Given the description of an element on the screen output the (x, y) to click on. 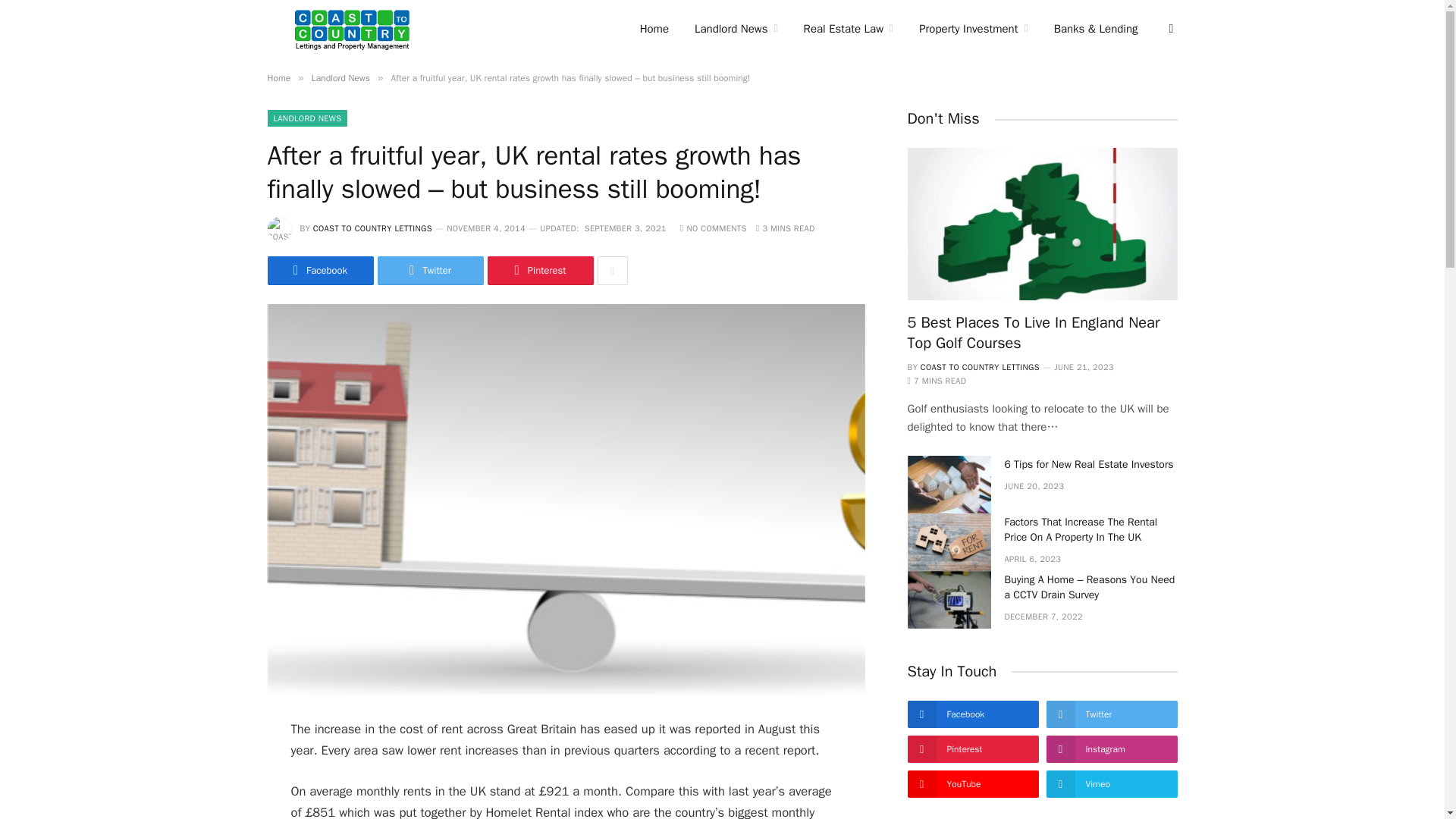
Coast to Country Lettings and Property Management (352, 28)
Landlord News (735, 28)
Real Estate Law (848, 28)
Home (654, 28)
